Given the description of an element on the screen output the (x, y) to click on. 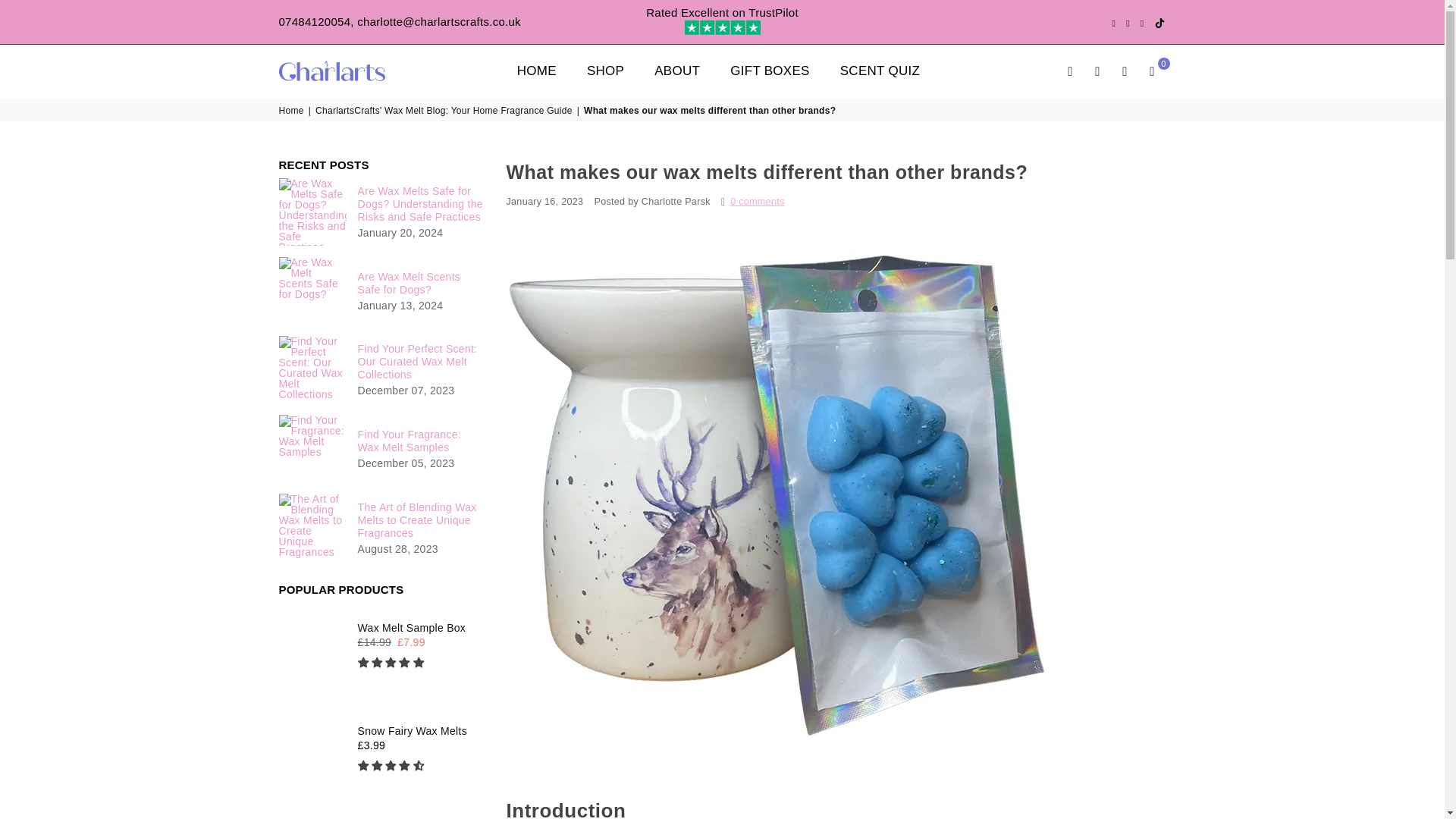
CharlartsCrafts on TikTok (1160, 22)
TikTok (1160, 22)
Back to the home page (292, 110)
Search (1070, 71)
SHOP (604, 70)
CharlartsCrafts on Facebook (1113, 22)
Cart (1152, 71)
Instagram (1142, 22)
CHARLARTSCRAFTS (343, 70)
CharlartsCrafts on Instagram (1142, 22)
